Given the description of an element on the screen output the (x, y) to click on. 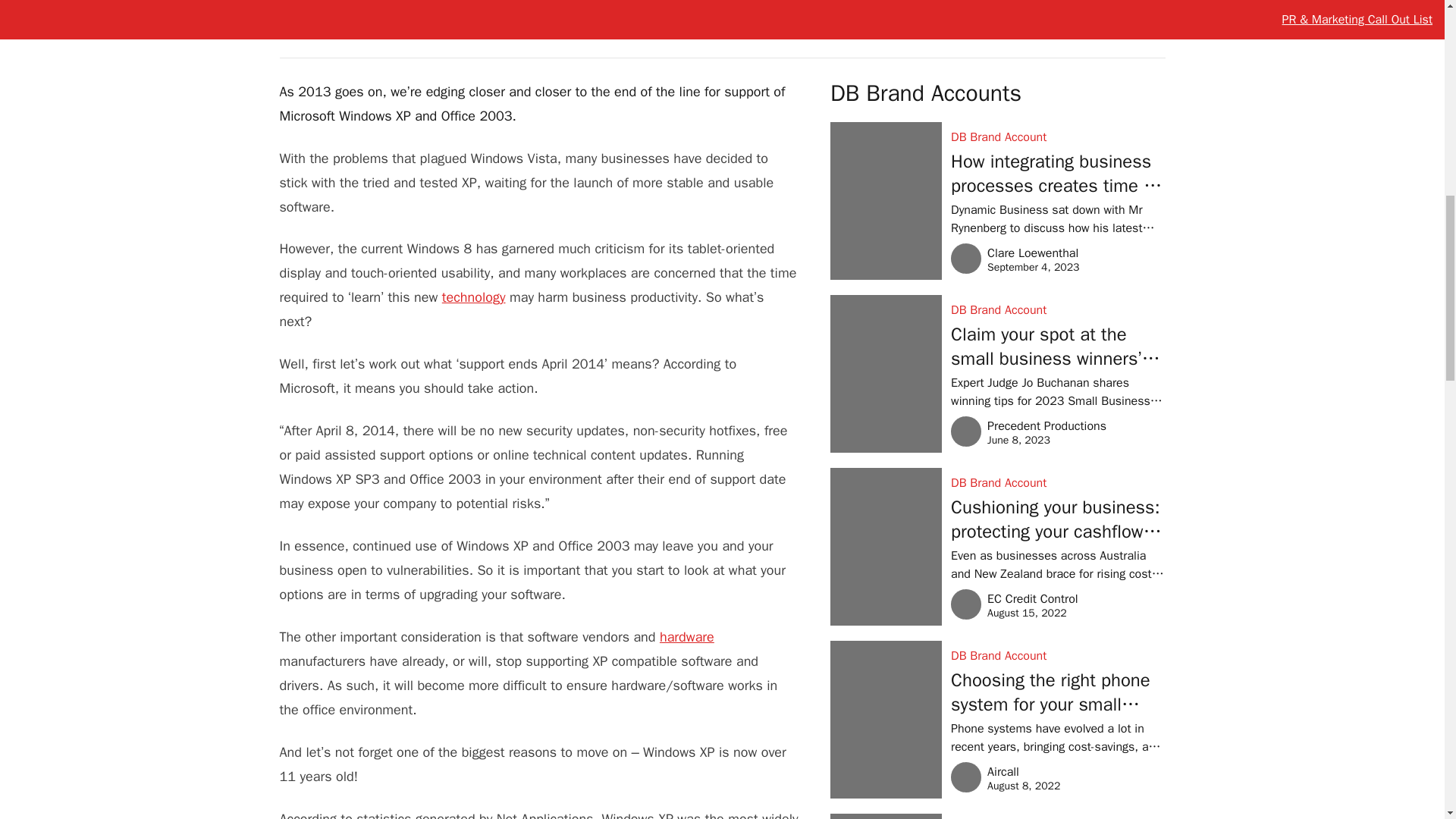
technology (473, 297)
hardware (338, 20)
